Given the description of an element on the screen output the (x, y) to click on. 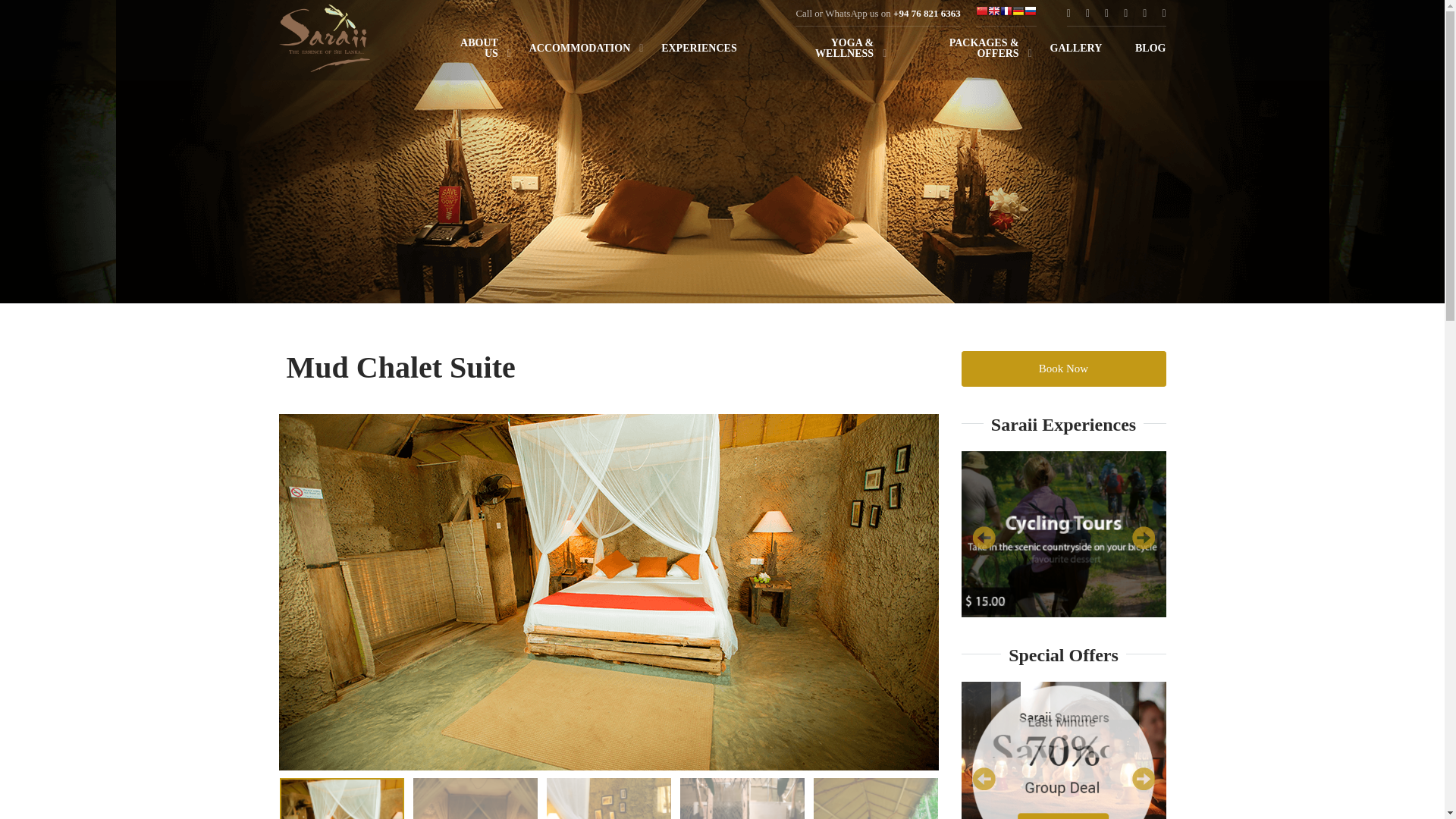
ABOUT US (471, 51)
BLOG (1142, 51)
Mud Chalet Suite (400, 367)
ACCOMMODATION (579, 51)
EXPERIENCES (699, 51)
GALLERY (1076, 51)
